Given the description of an element on the screen output the (x, y) to click on. 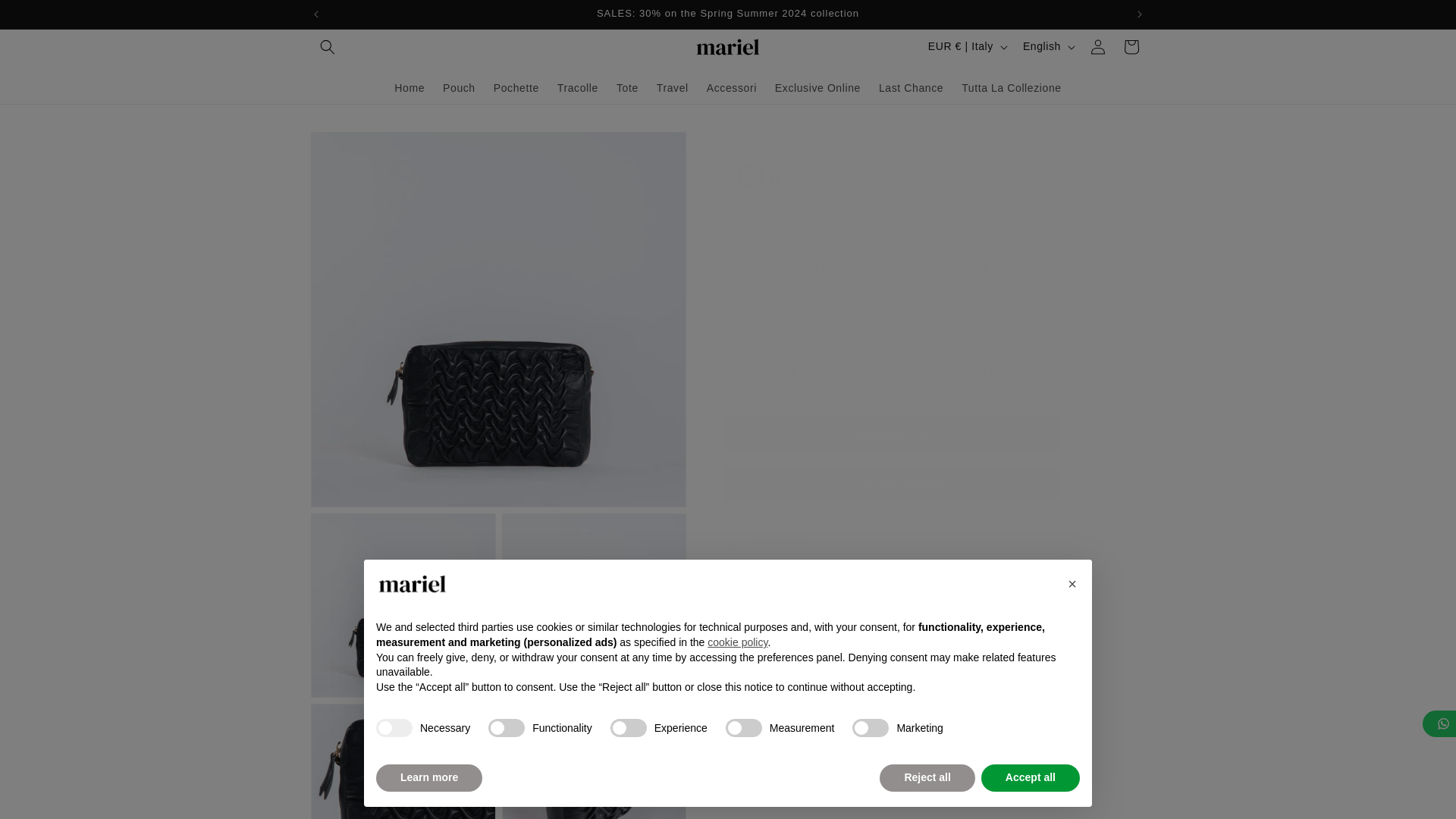
Tutta La Collezione (1011, 87)
0 (403, 761)
Open media 3 in modal (594, 605)
Pochette (516, 87)
English (1047, 45)
Last Chance (910, 87)
false (869, 728)
false (628, 728)
Tracolle (577, 87)
true (393, 728)
0 (594, 761)
Exclusive Online (817, 87)
Skip to content (45, 17)
Travel (672, 87)
